Given the description of an element on the screen output the (x, y) to click on. 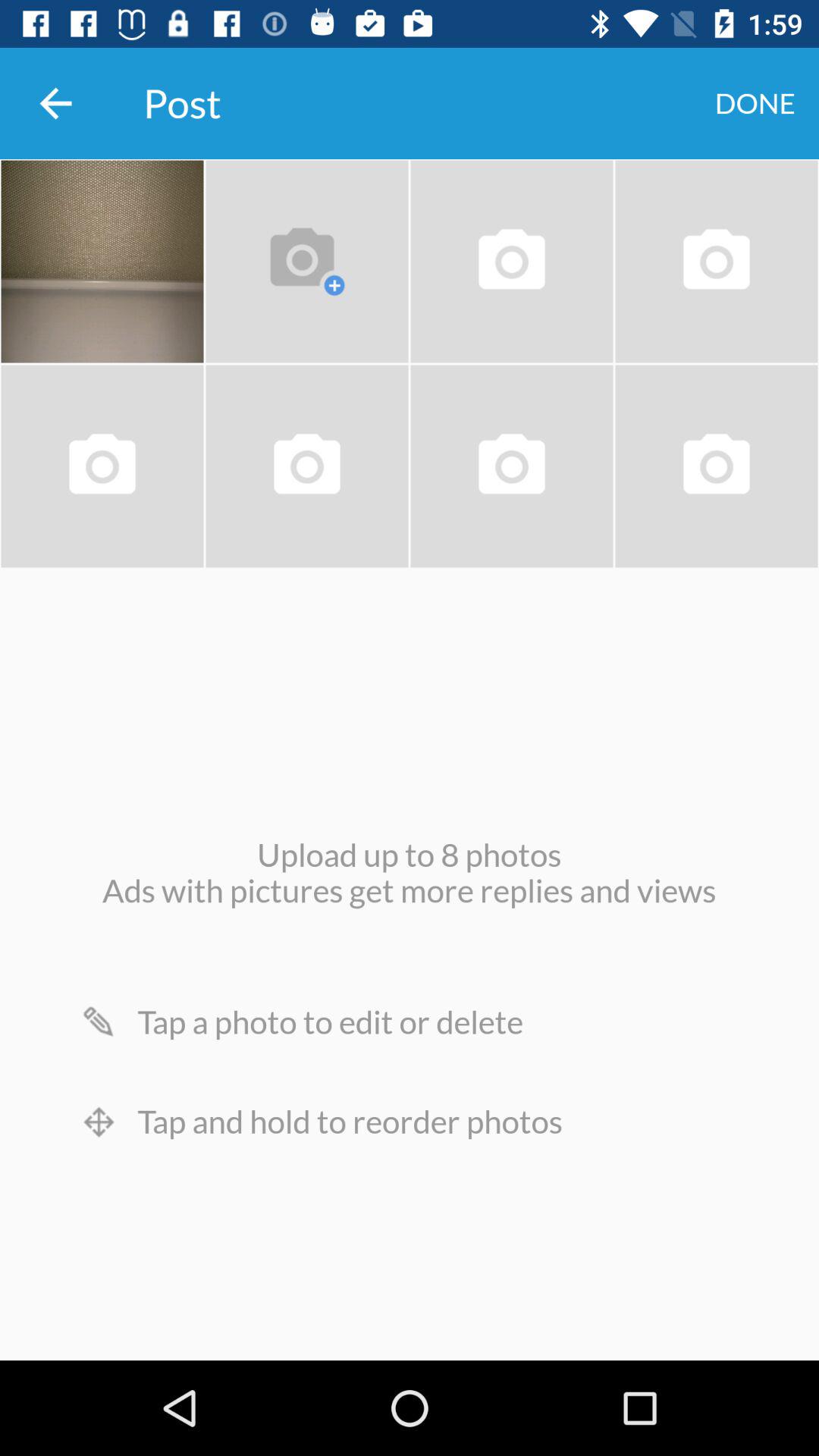
turn on the item next to the post item (55, 103)
